Given the description of an element on the screen output the (x, y) to click on. 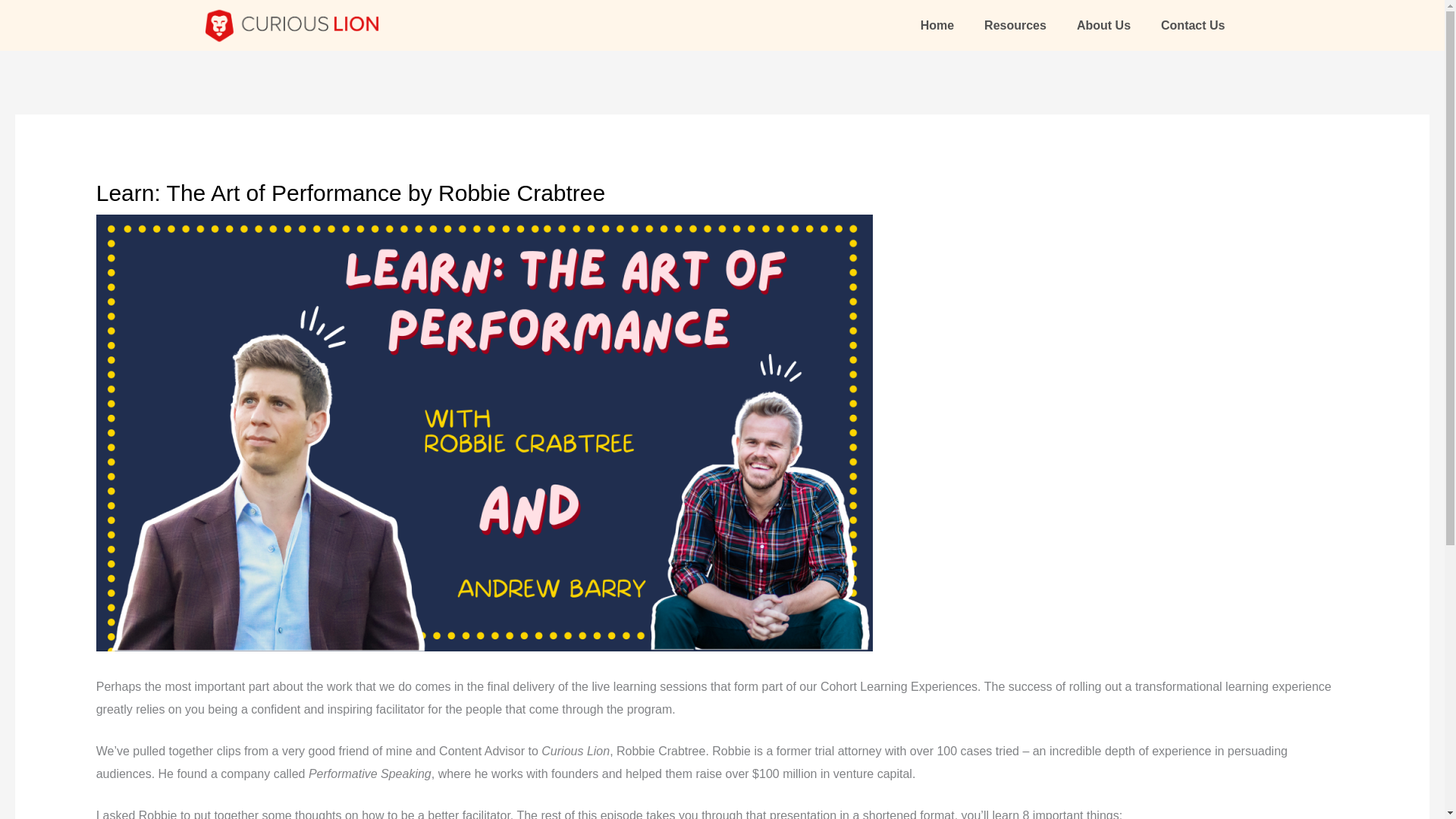
Home (937, 25)
Resources (1015, 25)
Contact Us (1192, 25)
About Us (1103, 25)
